Given the description of an element on the screen output the (x, y) to click on. 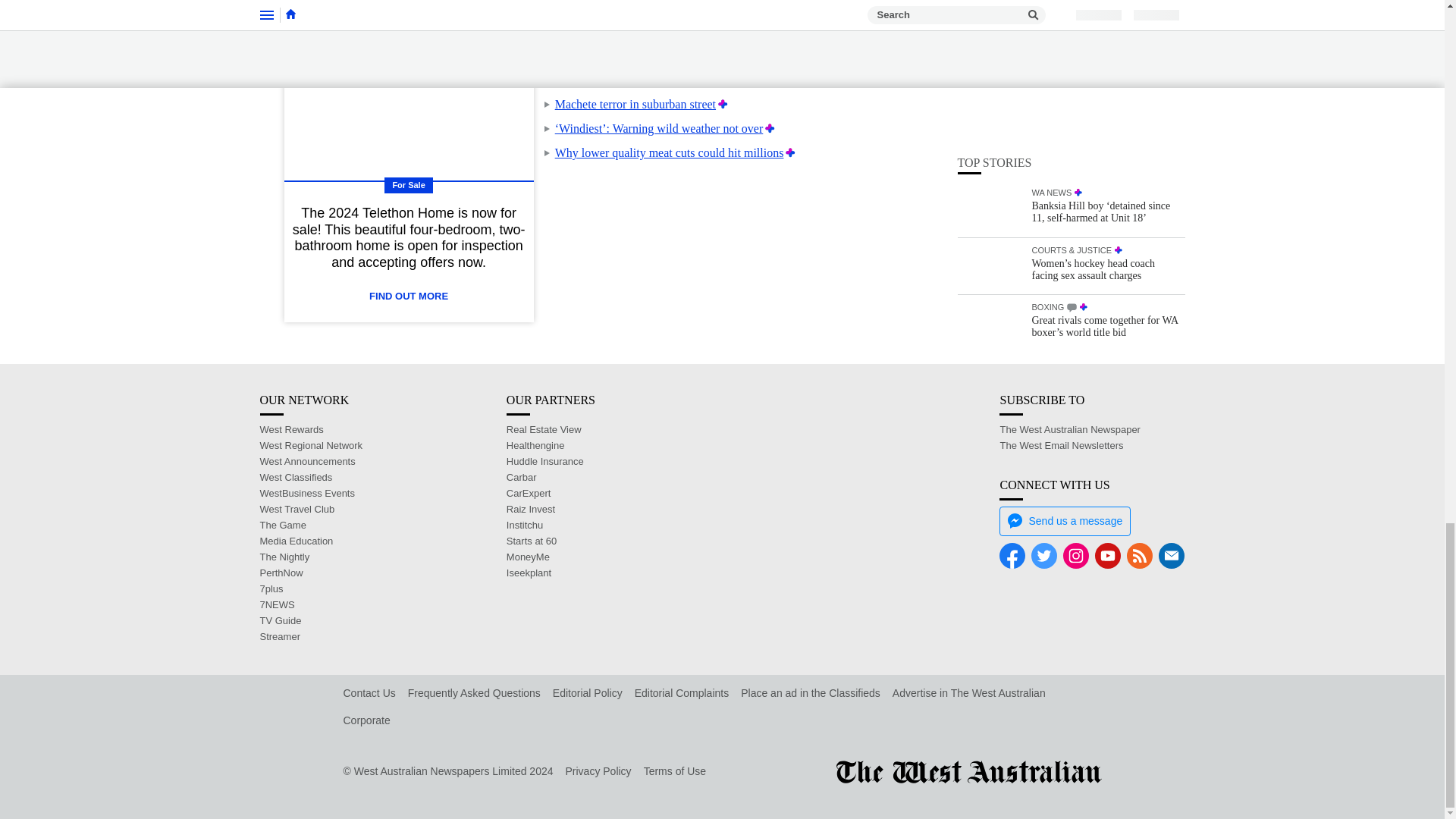
Premium (790, 152)
Premium (722, 103)
Premium (747, 31)
Premium (750, 79)
Premium (769, 128)
Premium (729, 55)
